Given the description of an element on the screen output the (x, y) to click on. 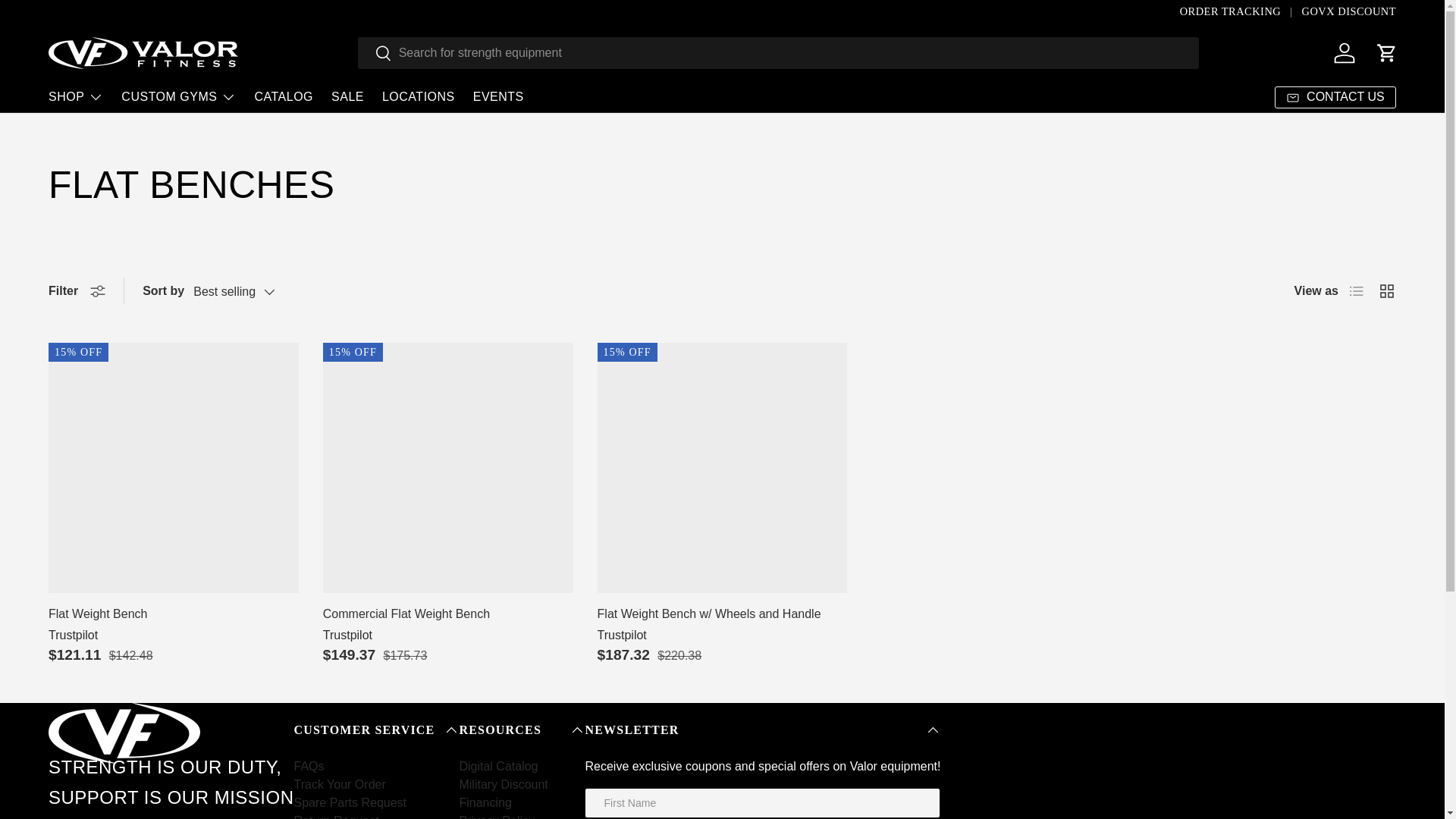
Log in (1344, 52)
Cart (1386, 52)
SHOP (75, 96)
Search (374, 54)
GOVX DISCOUNT (1348, 12)
SKIP TO CONTENT (68, 21)
ORDER TRACKING (1240, 12)
